Given the description of an element on the screen output the (x, y) to click on. 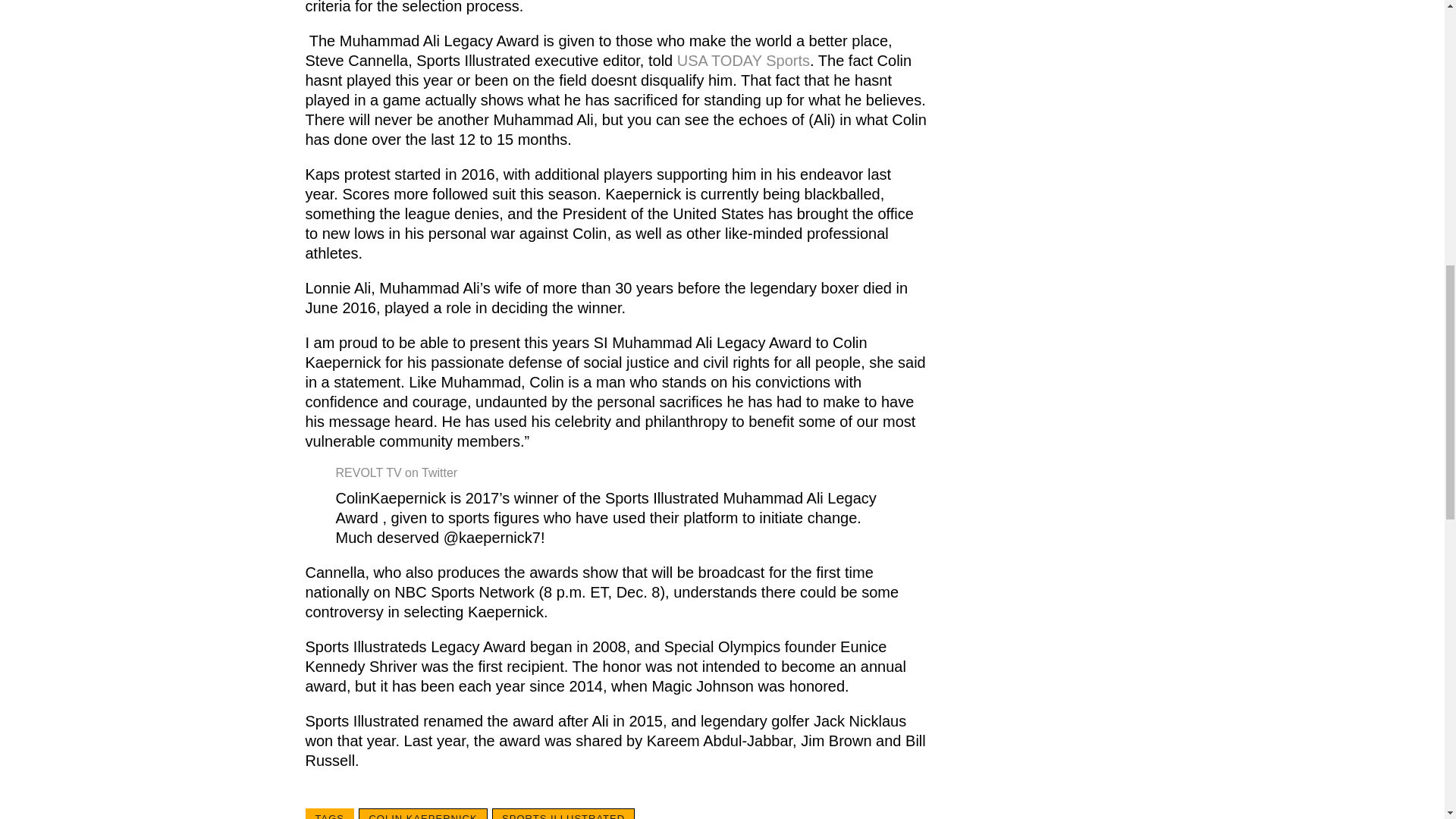
SPORTS ILLUSTRATED (563, 813)
USA TODAY Sports (743, 60)
TAGS (328, 813)
COLIN KAEPERNICK (422, 813)
REVOLT TV on Twitter (395, 472)
